Given the description of an element on the screen output the (x, y) to click on. 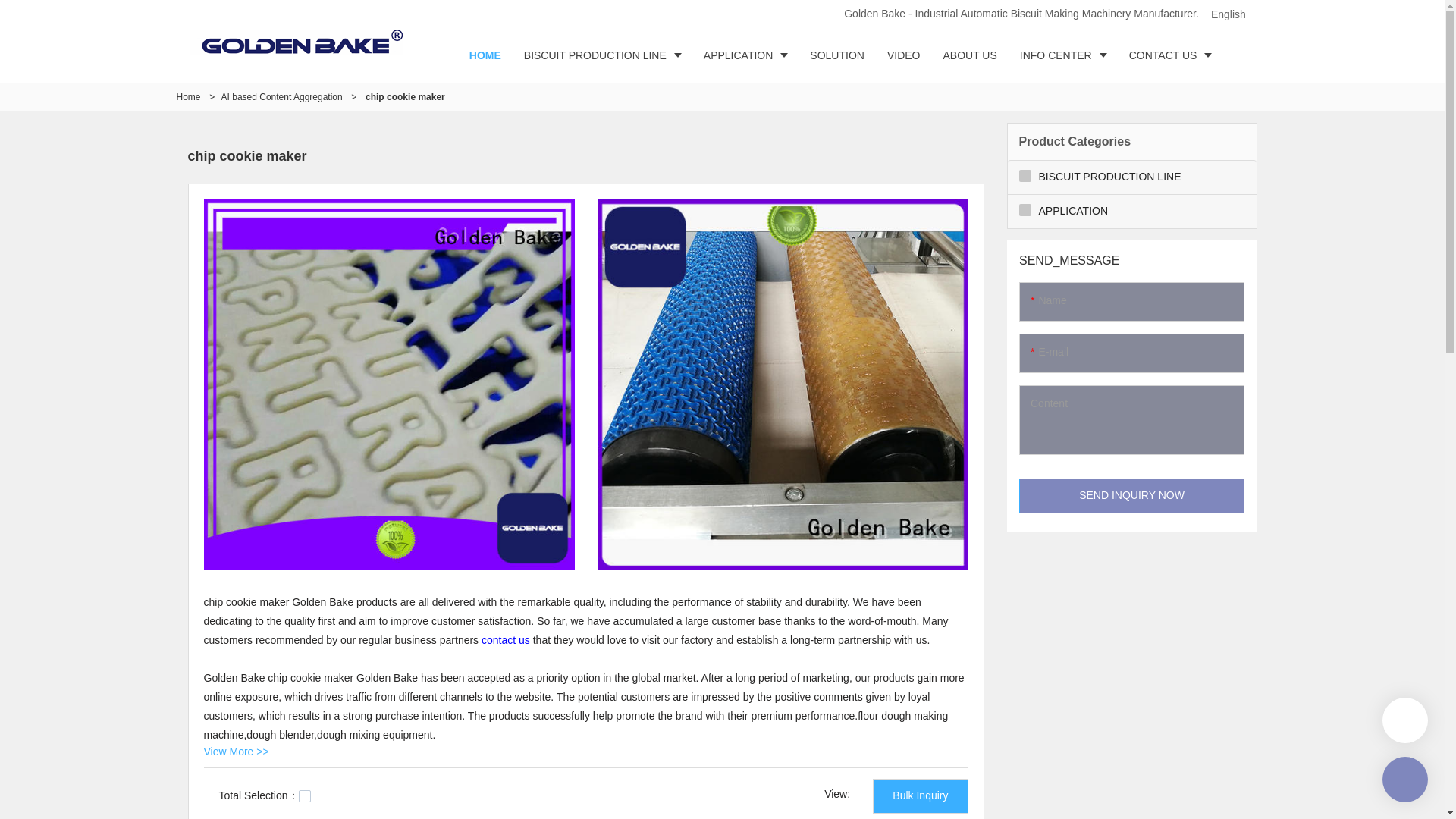
on (304, 796)
APPLICATION (746, 55)
BISCUIT PRODUCTION LINE (602, 55)
HOME (485, 55)
